Given the description of an element on the screen output the (x, y) to click on. 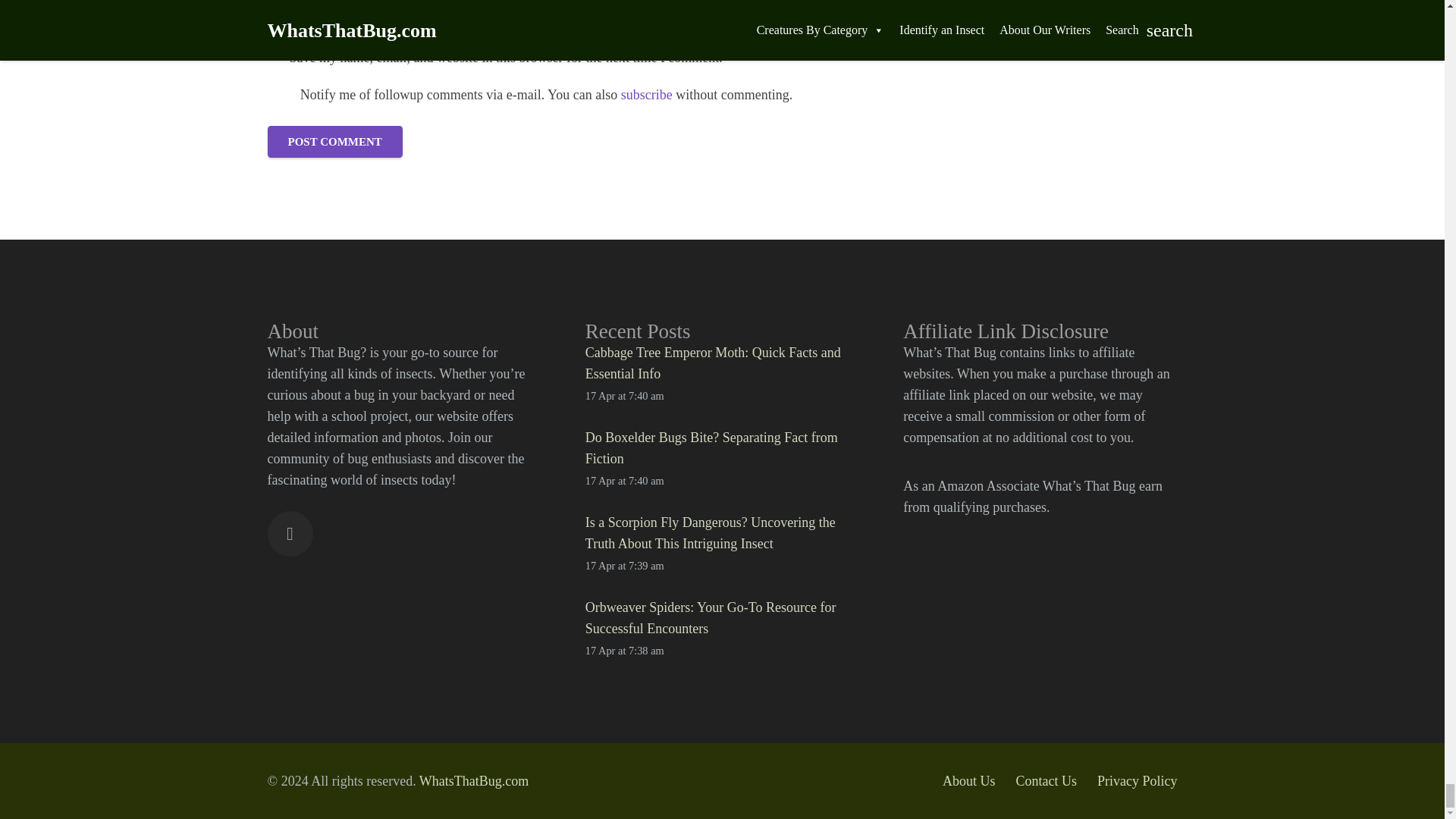
yes (278, 93)
1 (274, 57)
